Given the description of an element on the screen output the (x, y) to click on. 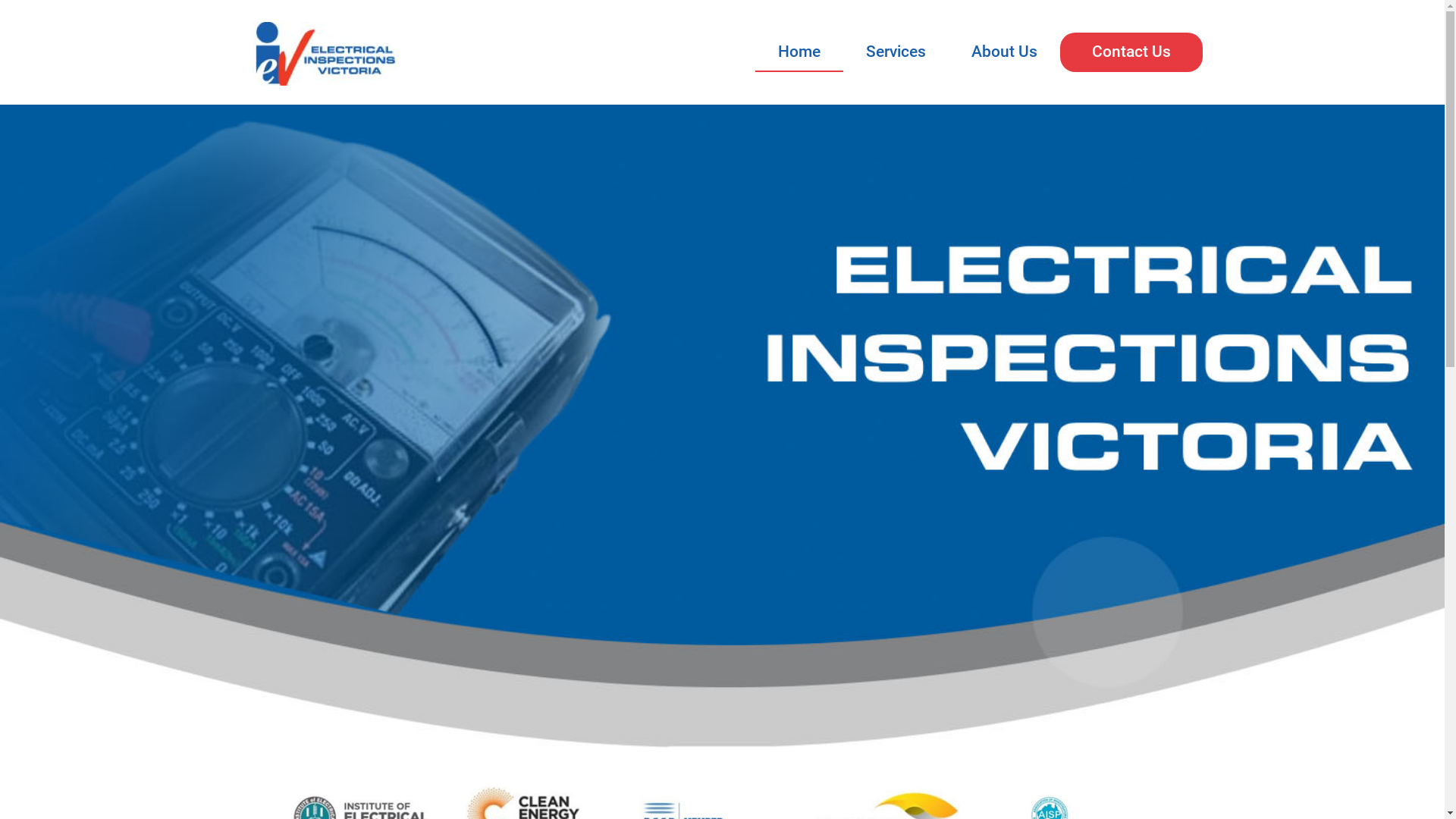
Contact Us Element type: text (1131, 52)
Home Element type: text (799, 51)
About Us Element type: text (1004, 52)
Services Element type: text (895, 52)
slide Element type: hover (722, 426)
